Given the description of an element on the screen output the (x, y) to click on. 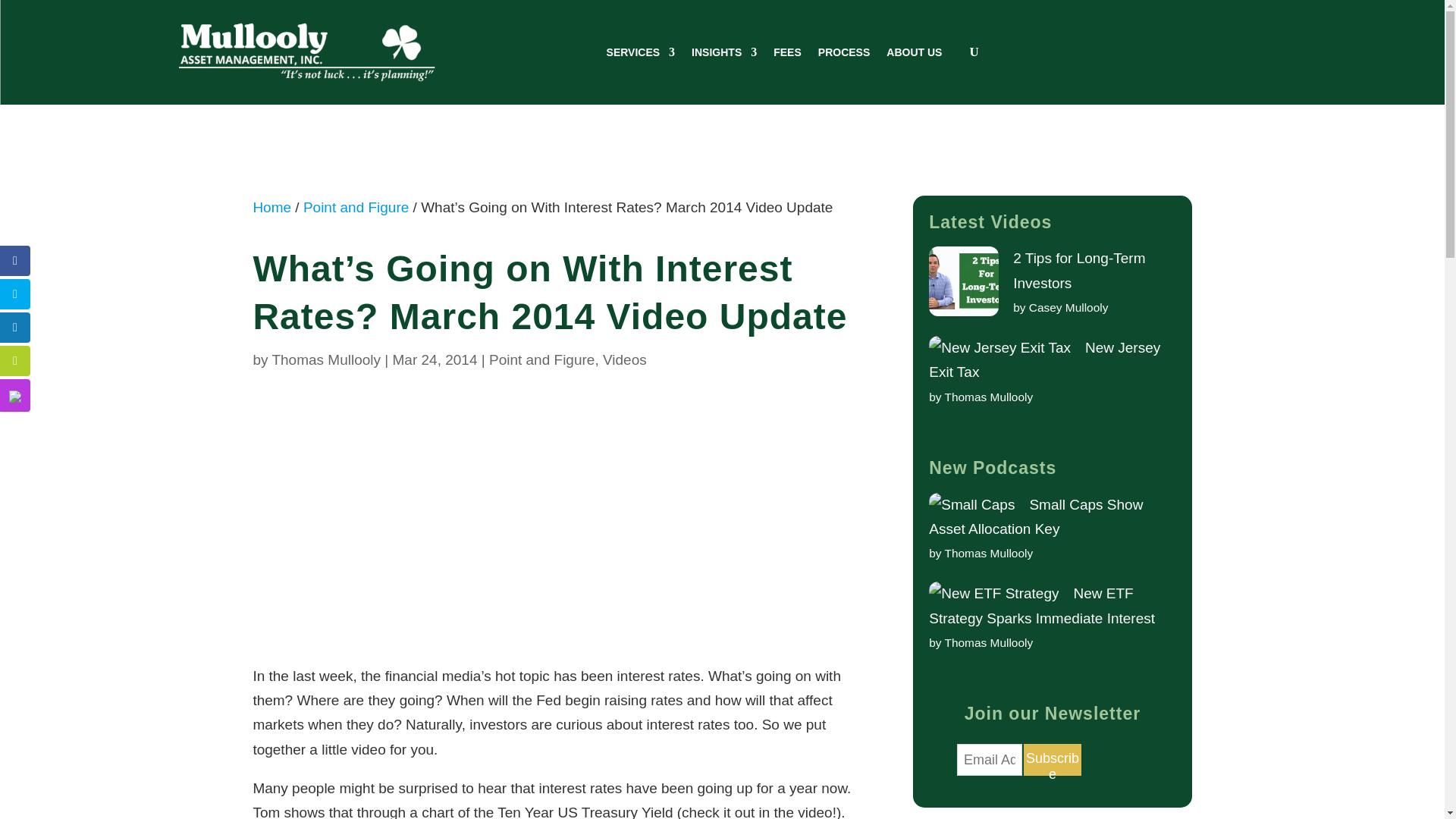
Home (271, 207)
About Mullooly (914, 51)
Small Caps Show Asset Allocation Key (1035, 516)
Posts by Thomas Mullooly (325, 359)
INSIGHTS (724, 51)
Point and Figure (541, 359)
New ETF Strategy Sparks Immediate Interest (1041, 605)
ABOUT US (914, 51)
Point and Figure (355, 207)
Financial Services (641, 51)
